Given the description of an element on the screen output the (x, y) to click on. 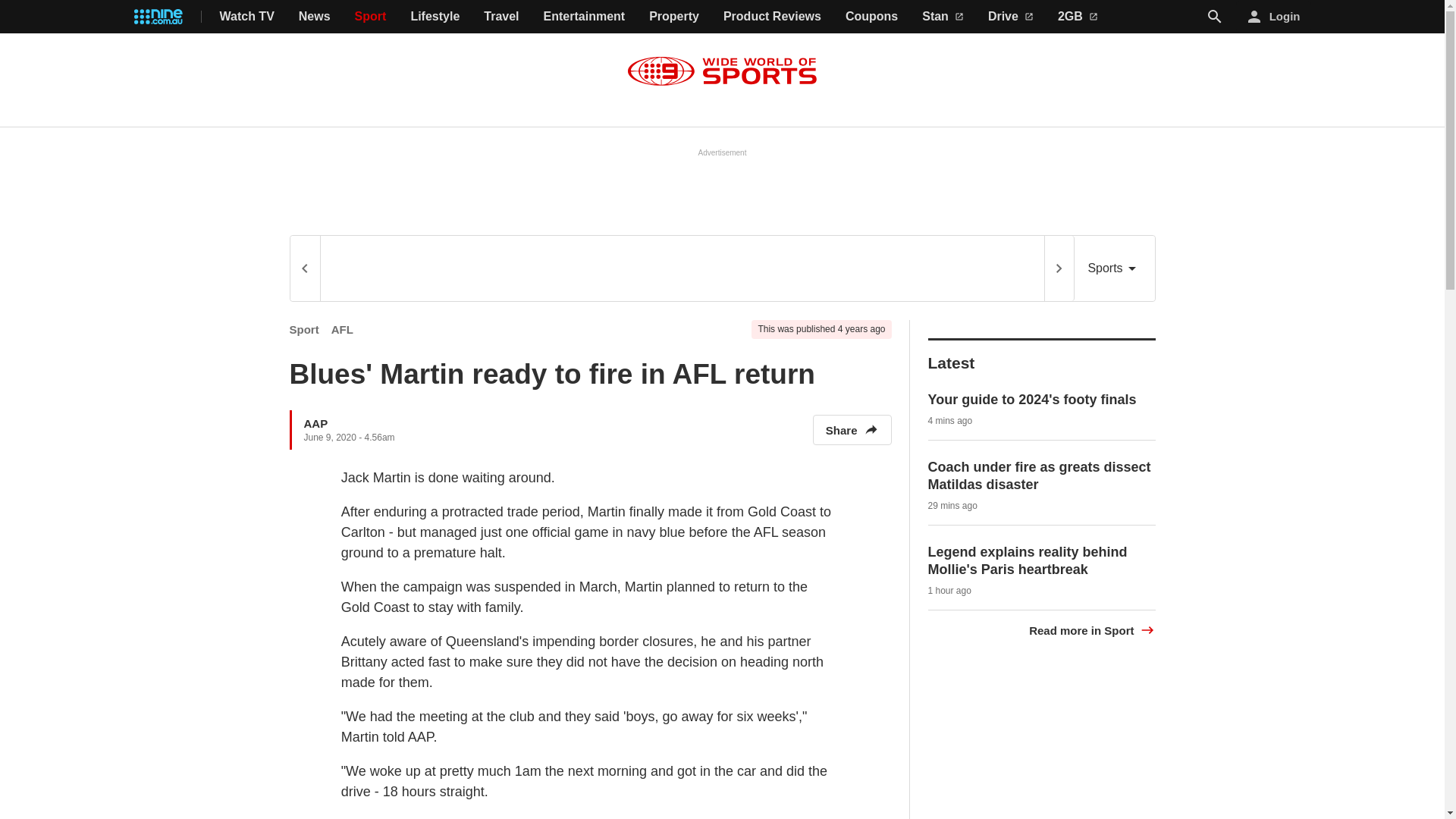
Legend explains reality behind Mollie's Paris heartbreak (1027, 560)
Share (851, 429)
Search (1214, 16)
Sport (303, 328)
Property (673, 16)
2GB (1077, 16)
Travel (500, 16)
Login (1273, 16)
Entertainment (584, 16)
Your guide to 2024's footy finals (1032, 399)
Watch TV (247, 16)
Drive (1010, 16)
Search (1214, 16)
Sport (371, 16)
Coupons (871, 16)
